Given the description of an element on the screen output the (x, y) to click on. 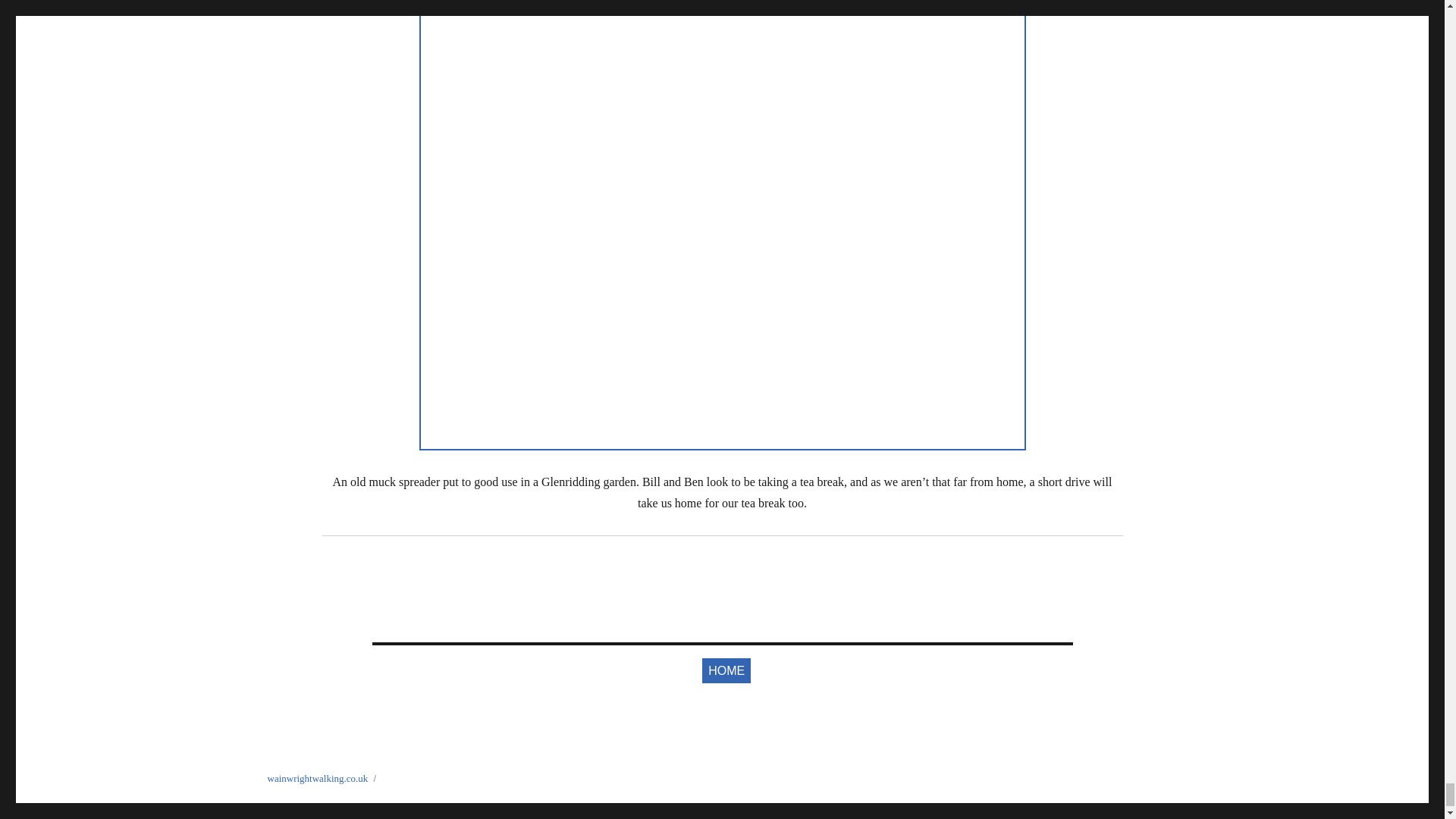
HOME (726, 670)
